Given the description of an element on the screen output the (x, y) to click on. 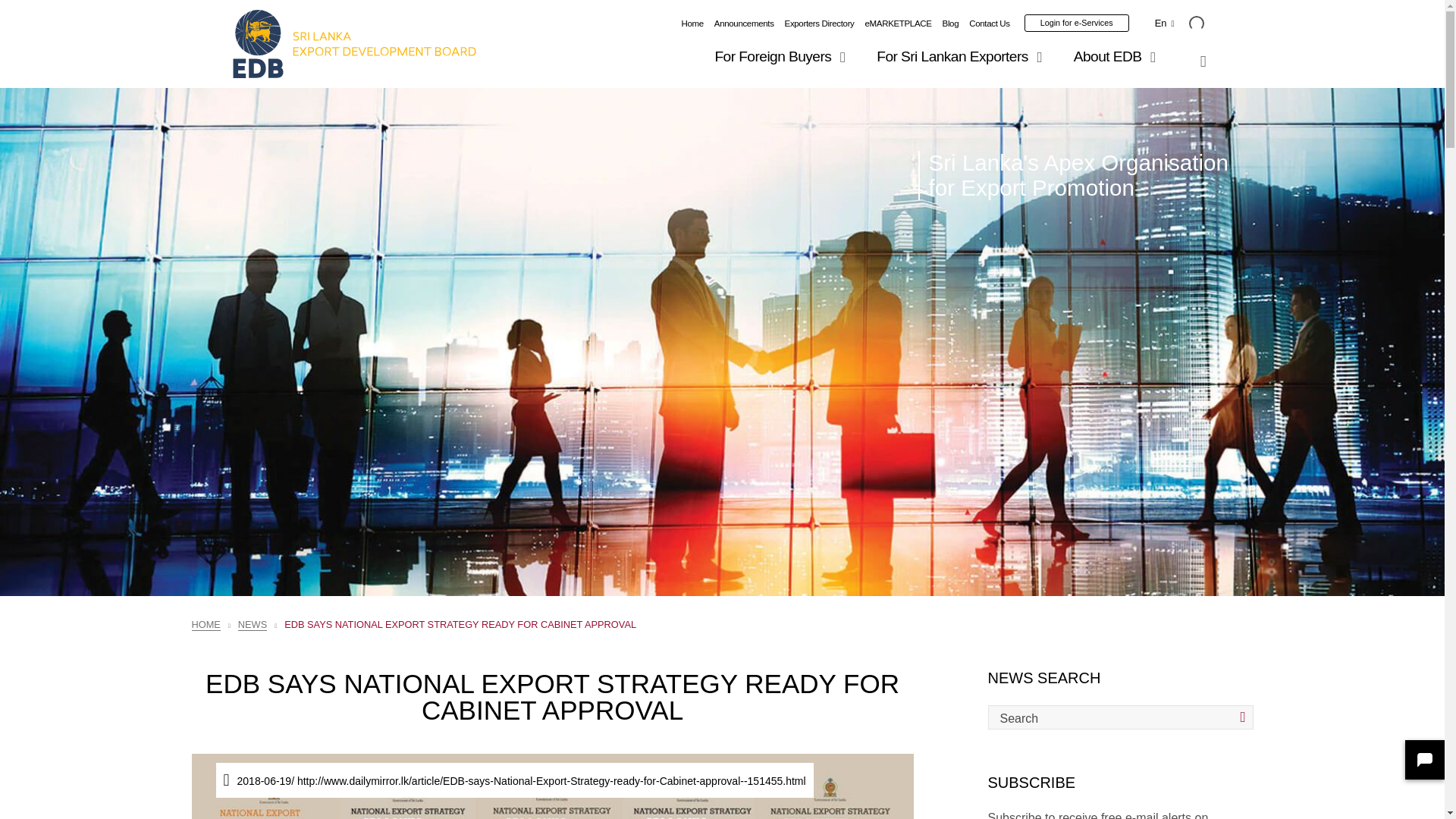
For Sri Lankan Exporters (961, 56)
Blog (950, 22)
Login for e-Services (1077, 22)
Export Development Board  (354, 43)
Login for e-Services (1077, 22)
Announcements (744, 22)
About EDB (1117, 56)
Contact Us (989, 22)
Home (692, 22)
Exporters Directory (819, 22)
EDB says National Export Strategy ready for Cabinet approval (551, 786)
For Foreign Buyers (782, 56)
eMARKETPLACE (897, 22)
